Given the description of an element on the screen output the (x, y) to click on. 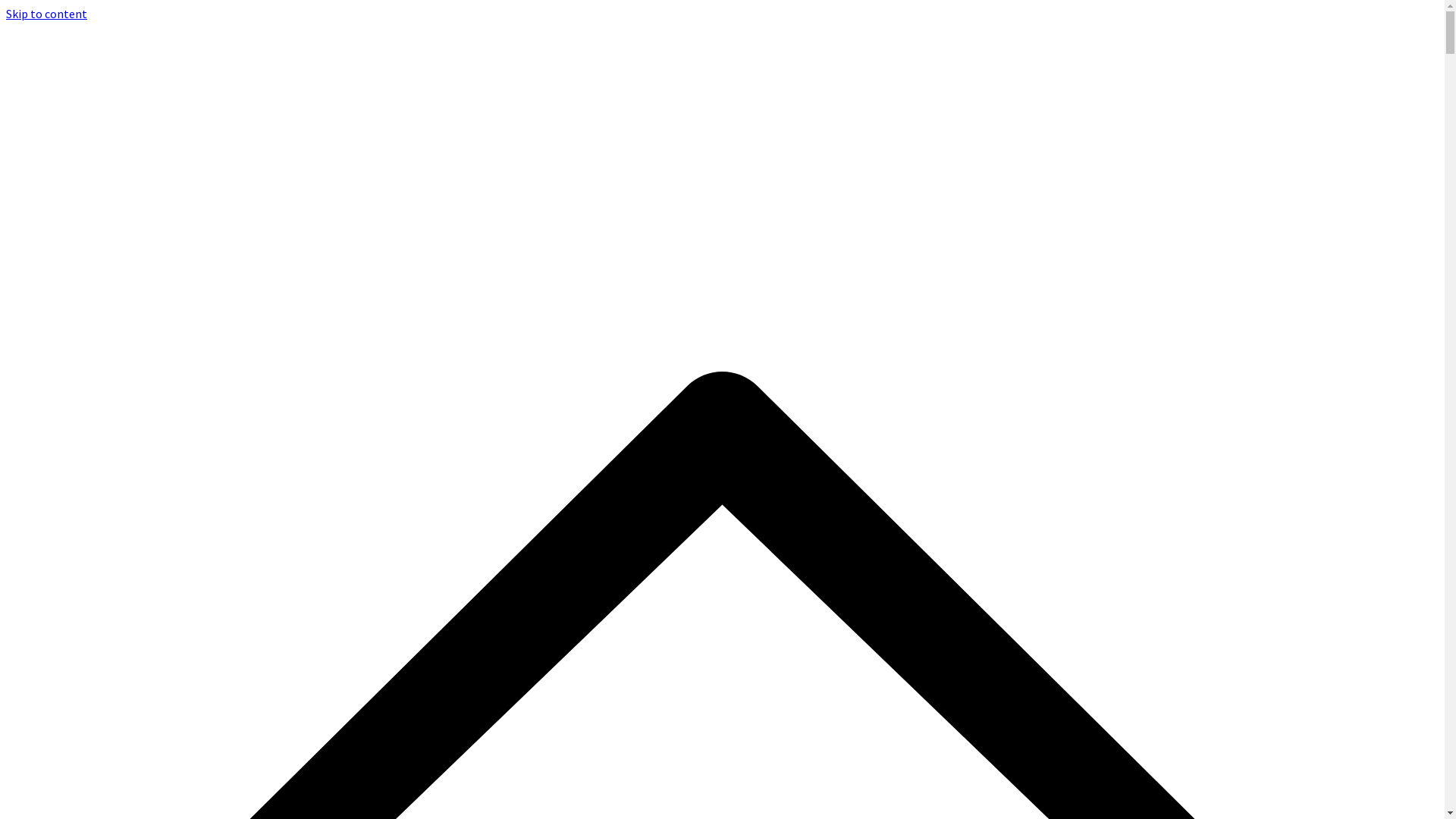
Skip to content Element type: text (46, 13)
